Given the description of an element on the screen output the (x, y) to click on. 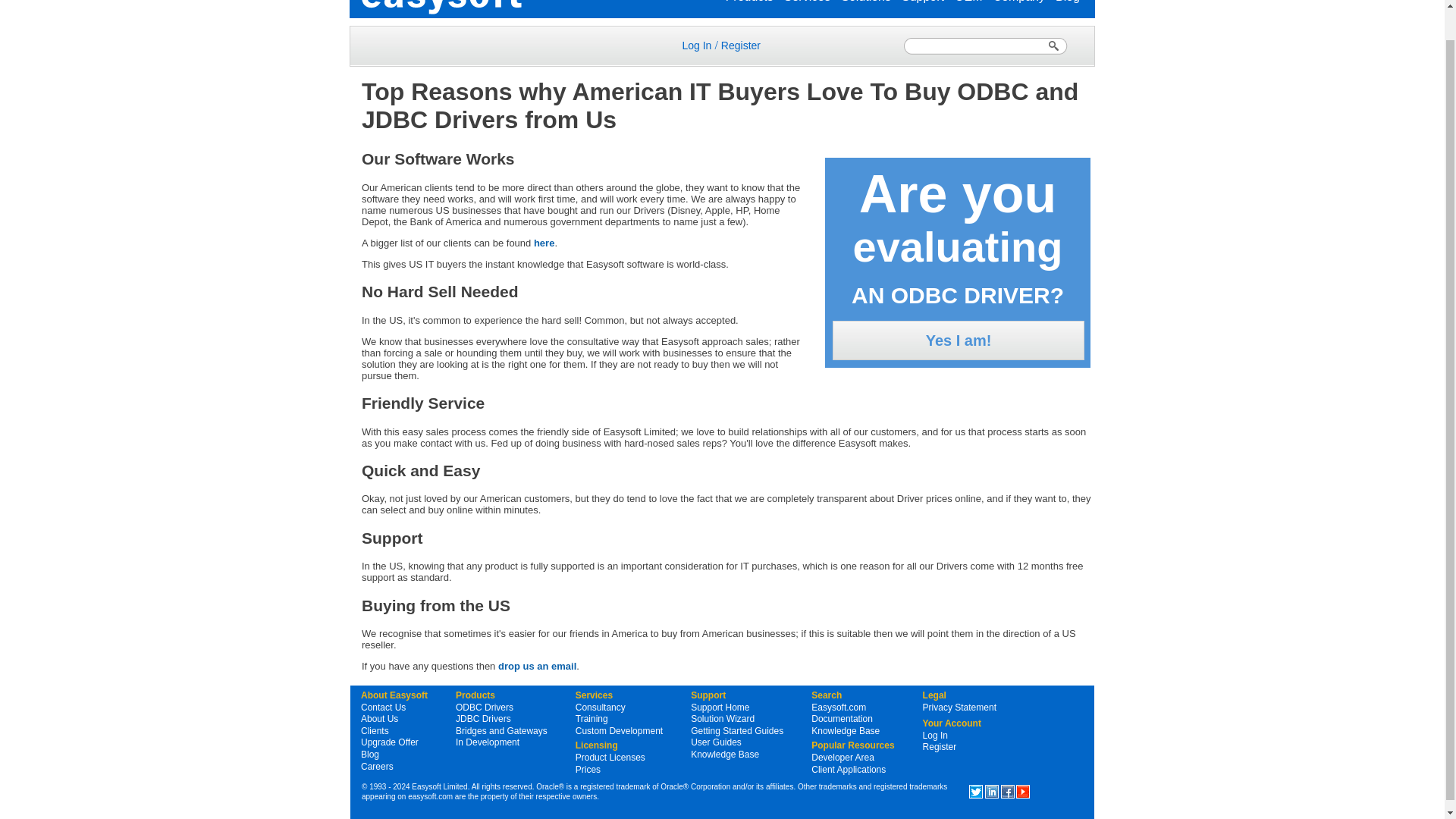
About Us (379, 718)
Blog (1067, 1)
JDBC Drivers (483, 718)
Yes I am! (958, 340)
Upgrade Offer (390, 742)
Training (591, 718)
drop us an email (536, 665)
In Development (487, 742)
Product Licenses (610, 757)
Blog (369, 754)
